Given the description of an element on the screen output the (x, y) to click on. 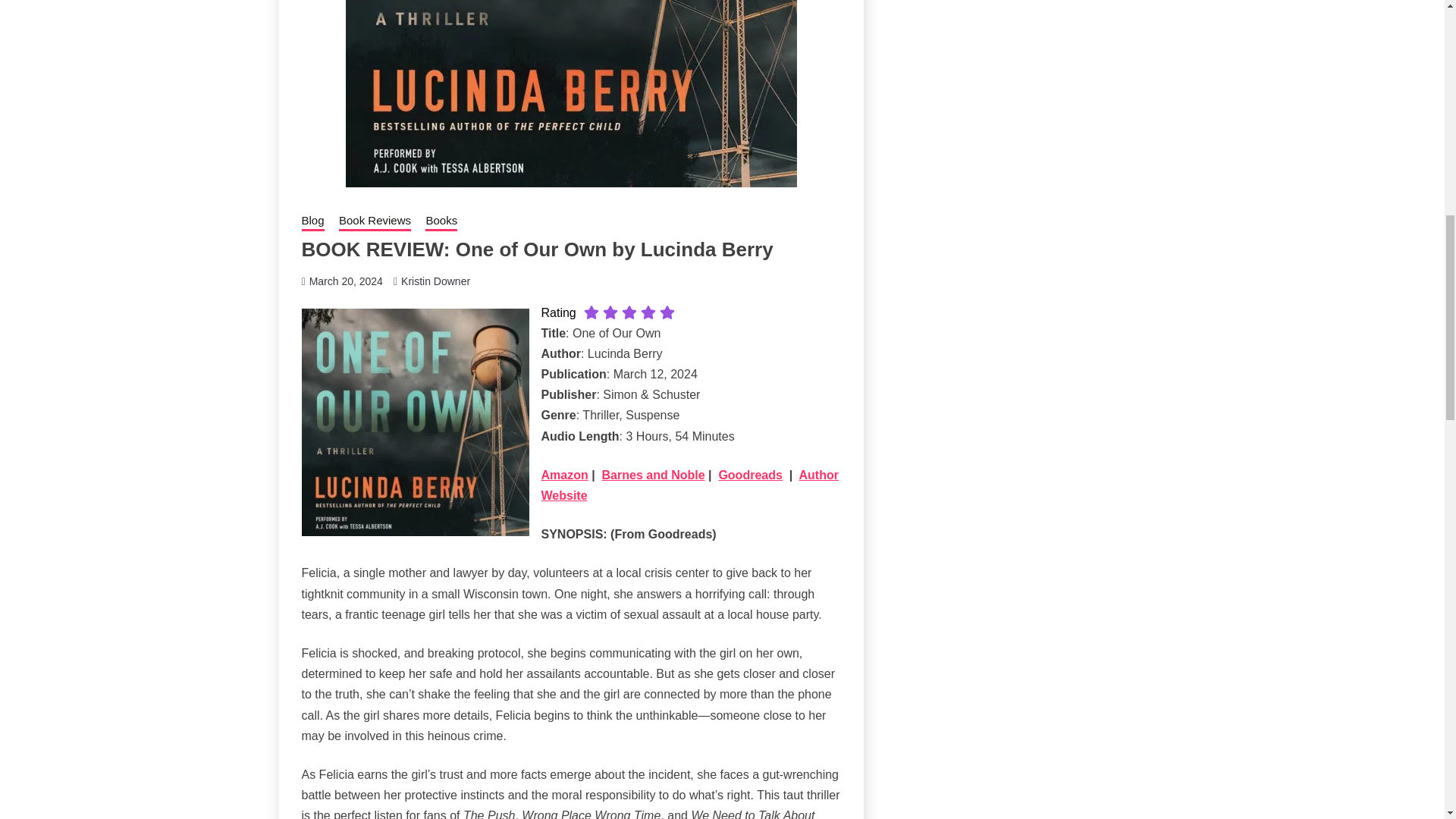
Blog (312, 221)
Barnes and Noble (653, 474)
Author Website (689, 485)
Goodreads (749, 474)
Books (441, 221)
Kristin Downer (435, 281)
March 20, 2024 (345, 281)
Book Reviews (374, 221)
Amazon (564, 474)
